Given the description of an element on the screen output the (x, y) to click on. 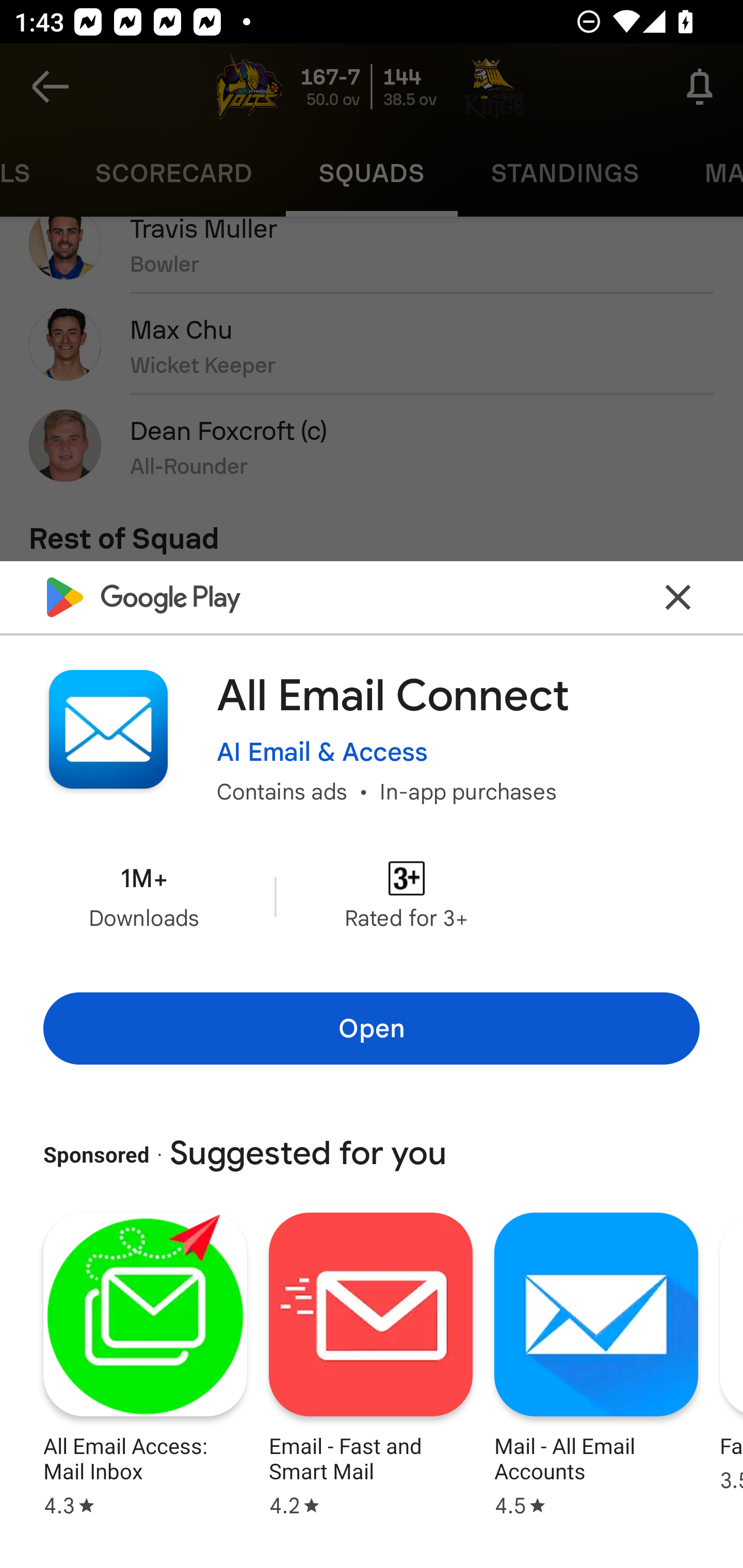
Close (677, 597)
Image of app or game icon for All Email Connect (108, 729)
AI Email & Access (321, 751)
Open (371, 1028)
App: Mail - All Email Accounts
Star rating: 4.5


 (595, 1362)
